Given the description of an element on the screen output the (x, y) to click on. 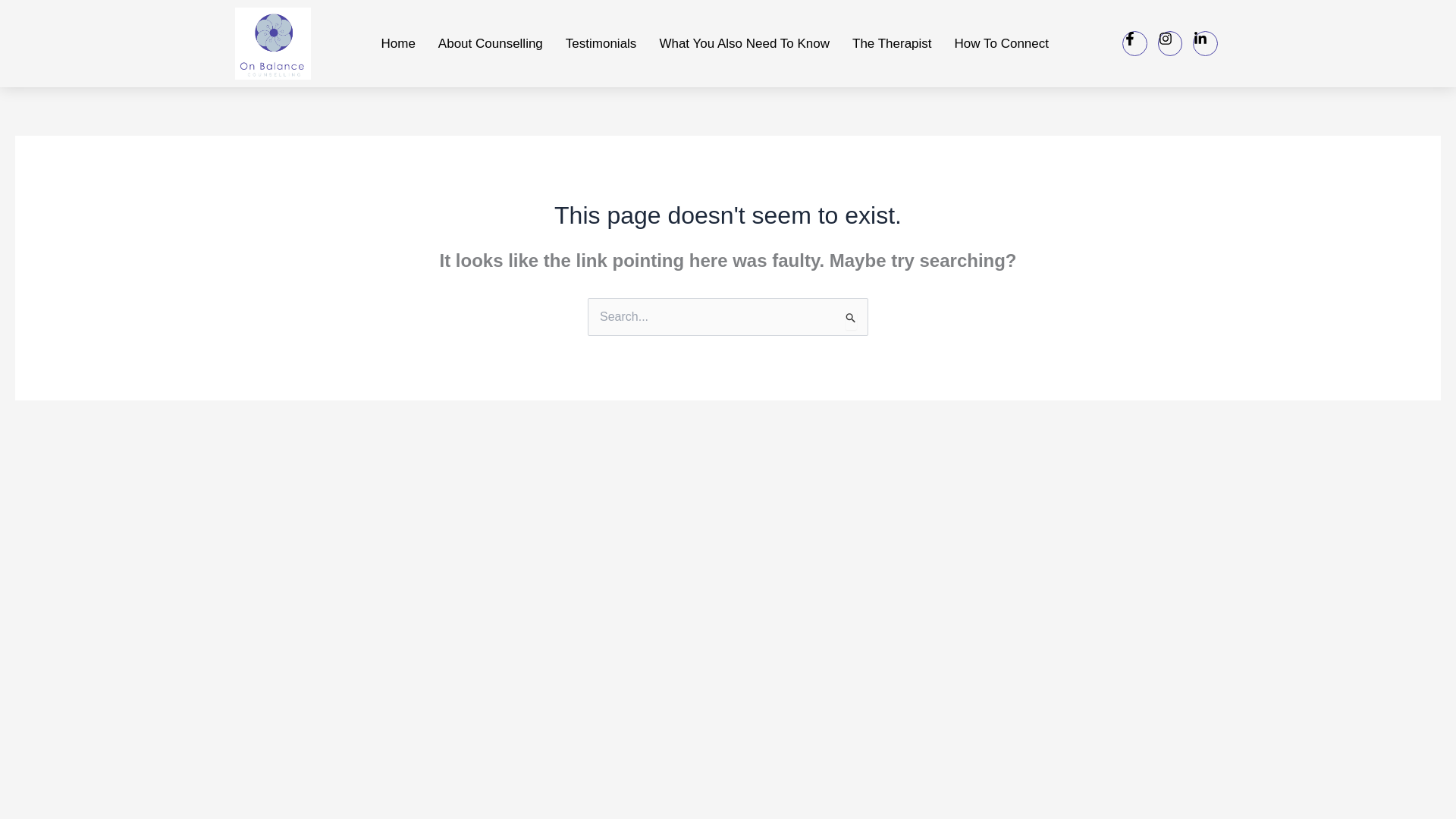
What You Also Need To Know (744, 43)
Home (397, 43)
The Therapist (892, 43)
How To Connect (1001, 43)
Linkedin-in (1204, 43)
Instagram (1169, 43)
About Counselling (490, 43)
Facebook-f (1134, 43)
Testimonials (600, 43)
